Given the description of an element on the screen output the (x, y) to click on. 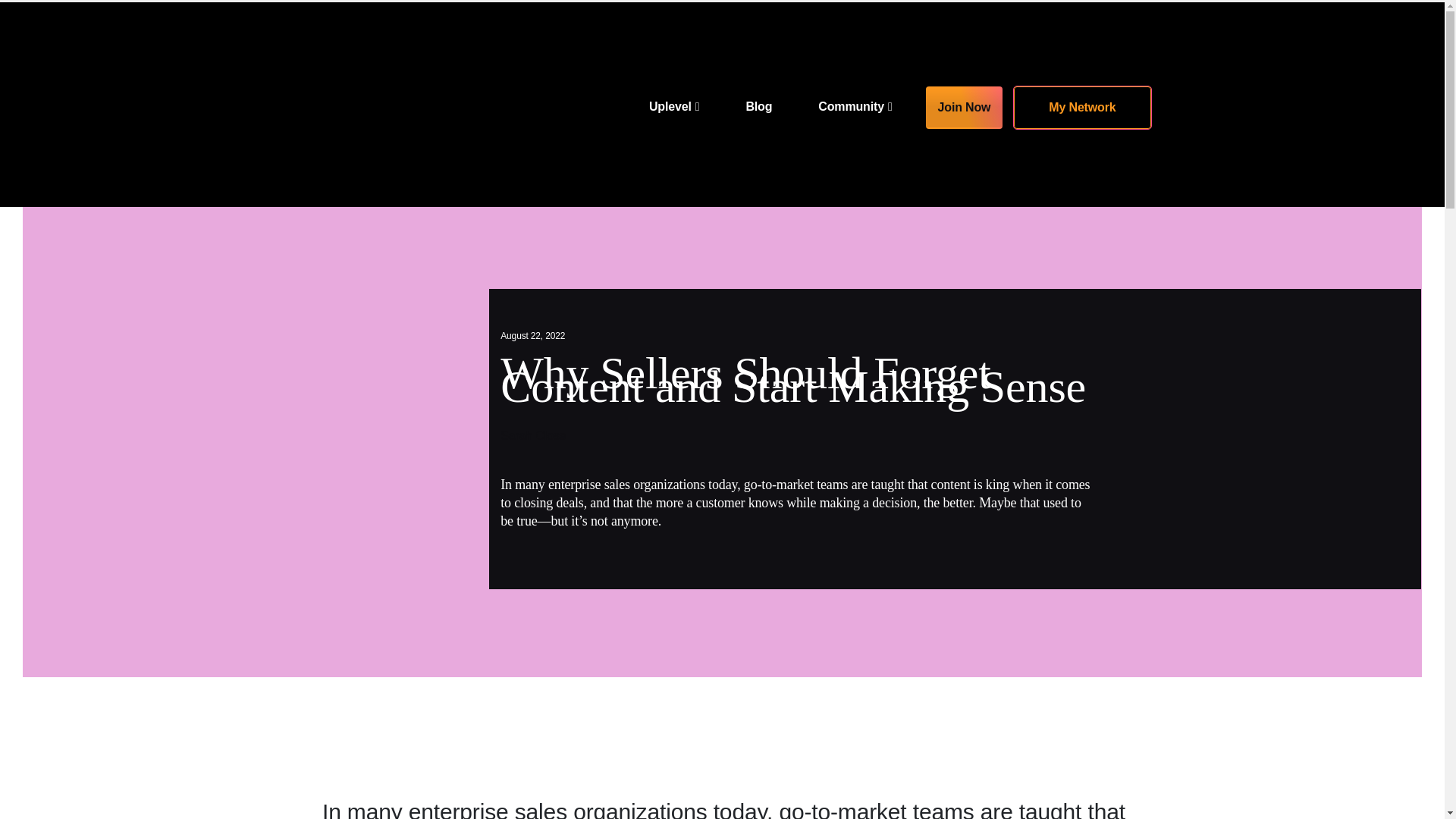
My Network (1081, 107)
Join the Community (1081, 107)
Strategic Sales Network -  (373, 104)
Blog (758, 104)
Uplevel (674, 104)
Sarah Close (533, 435)
Community (854, 104)
Join Now (964, 107)
